Given the description of an element on the screen output the (x, y) to click on. 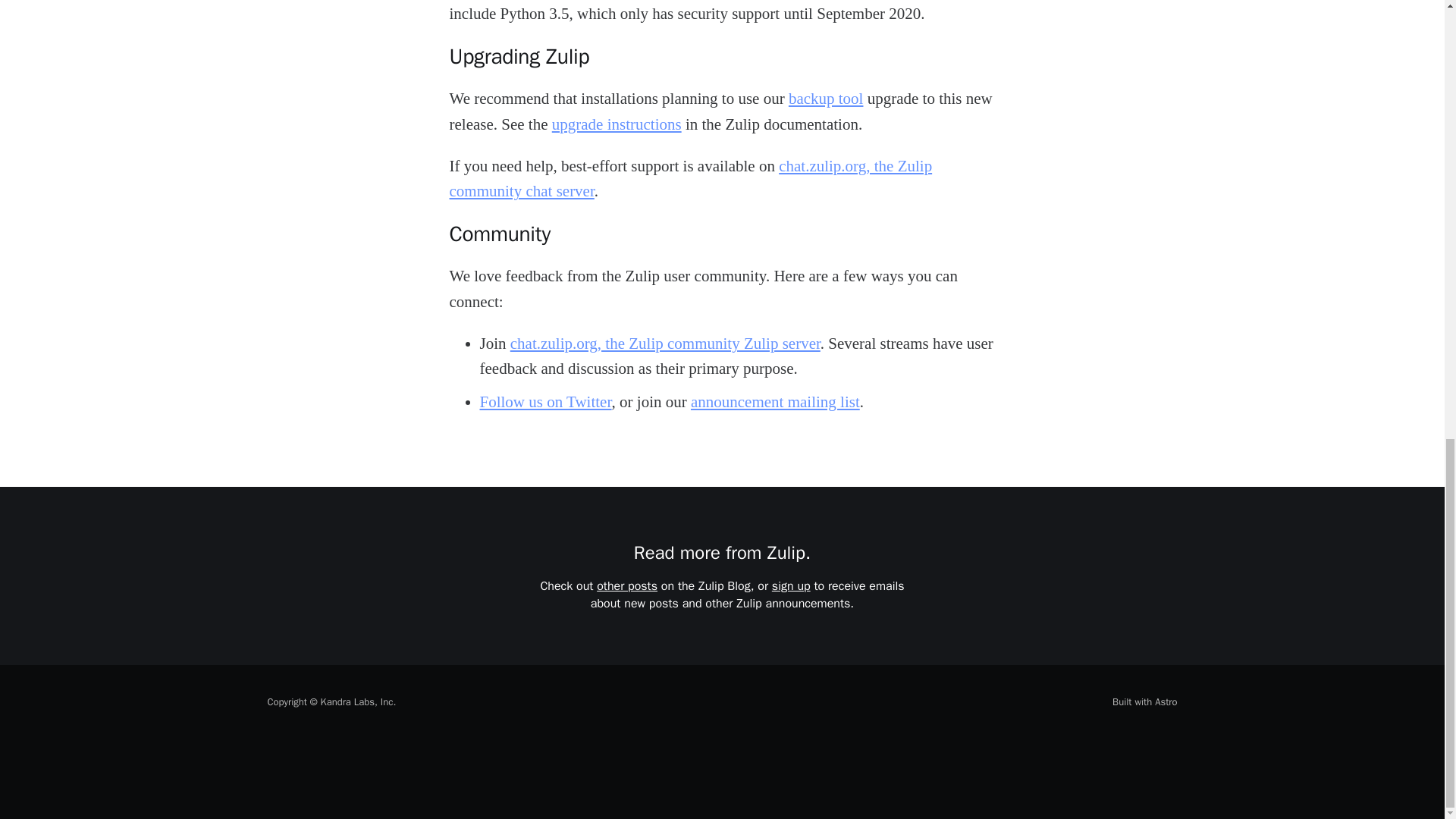
chat.zulip.org, the Zulip community chat server (689, 178)
Follow us on Twitter (545, 402)
backup tool (826, 98)
other posts (627, 585)
sign up (790, 585)
announcement mailing list (775, 402)
chat.zulip.org, the Zulip community Zulip server (666, 343)
upgrade instructions (616, 124)
